Given the description of an element on the screen output the (x, y) to click on. 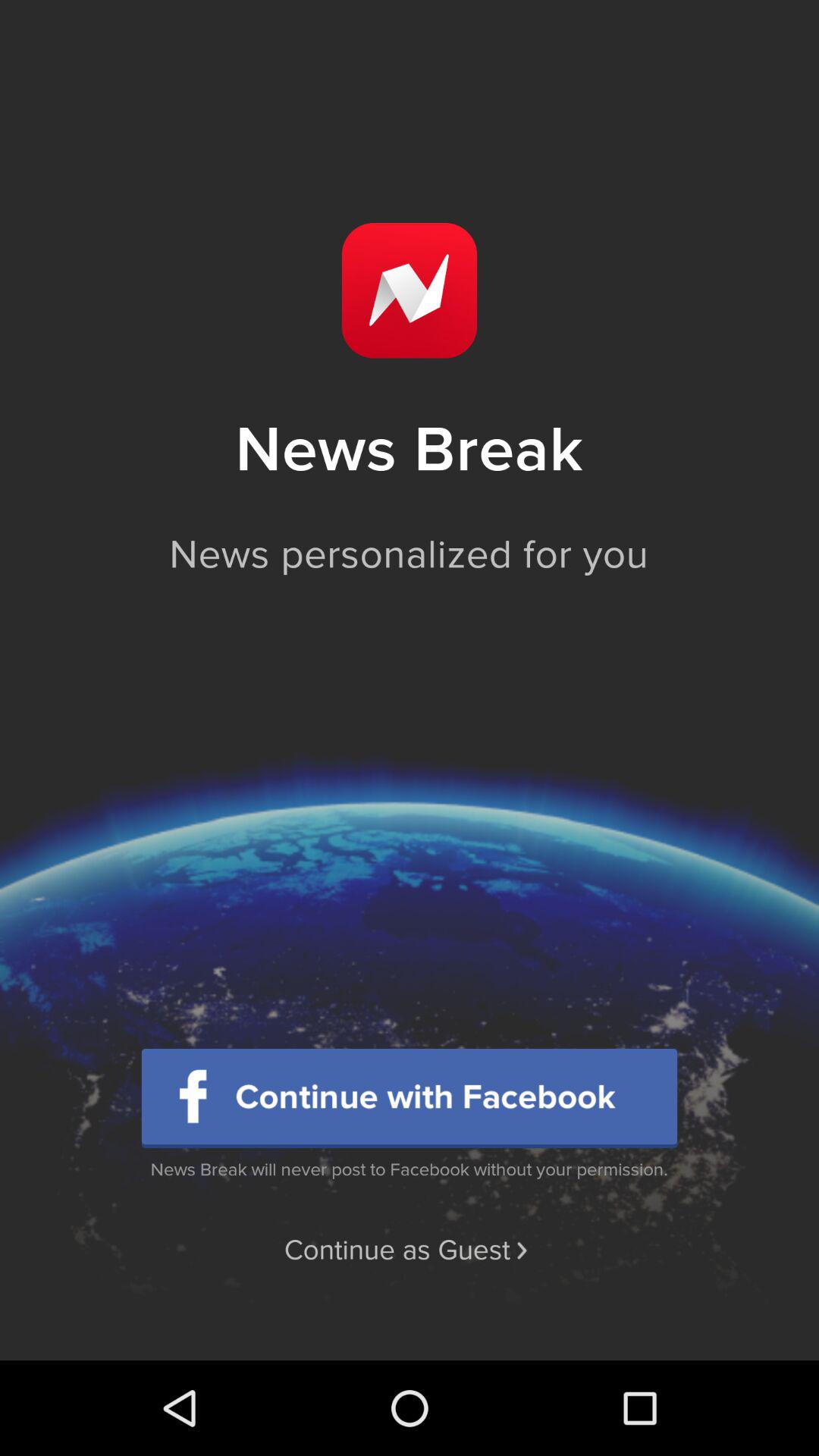
turn on the icon above news break will (409, 1098)
